Given the description of an element on the screen output the (x, y) to click on. 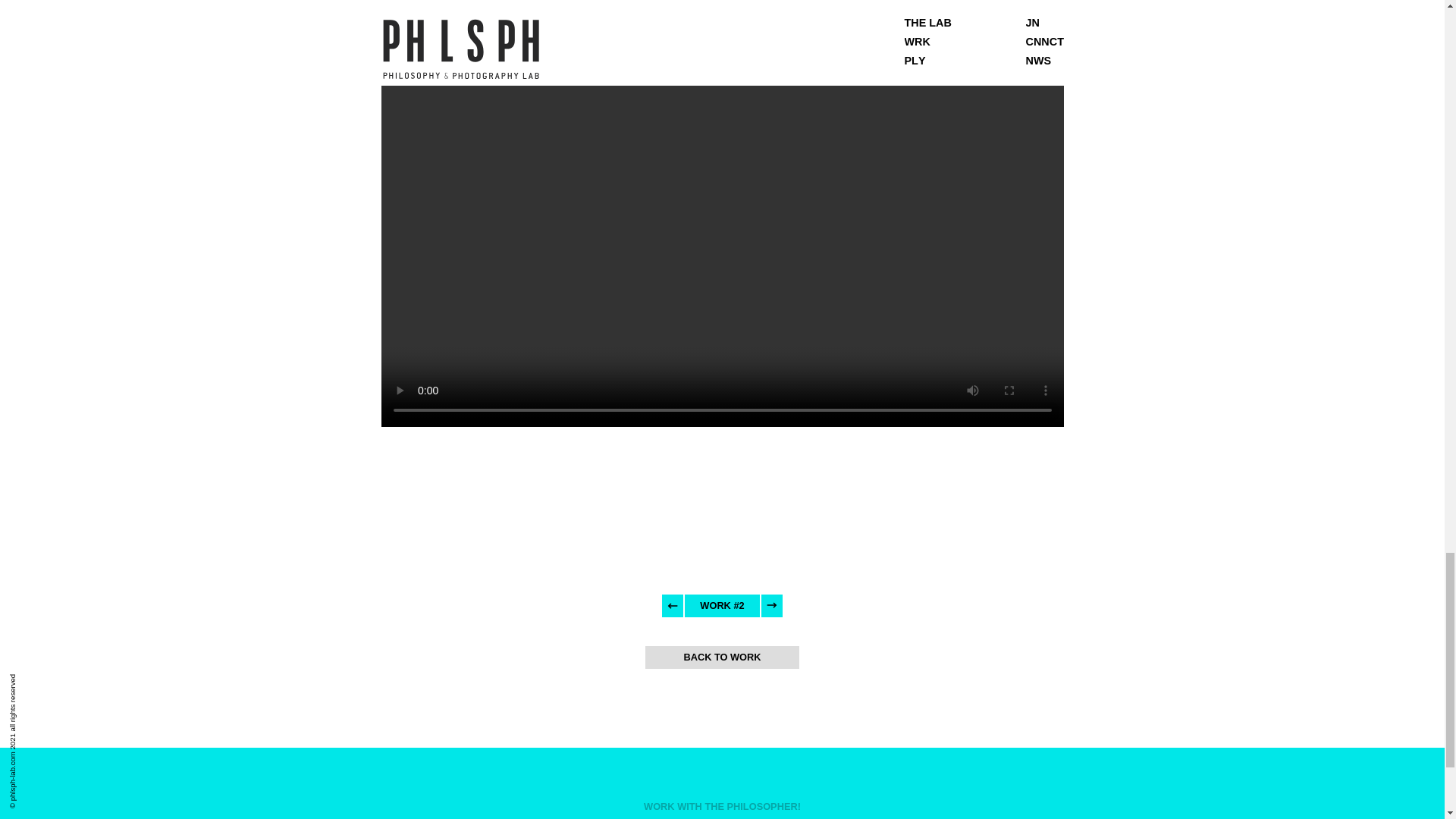
BACK TO WORK (721, 656)
